Given the description of an element on the screen output the (x, y) to click on. 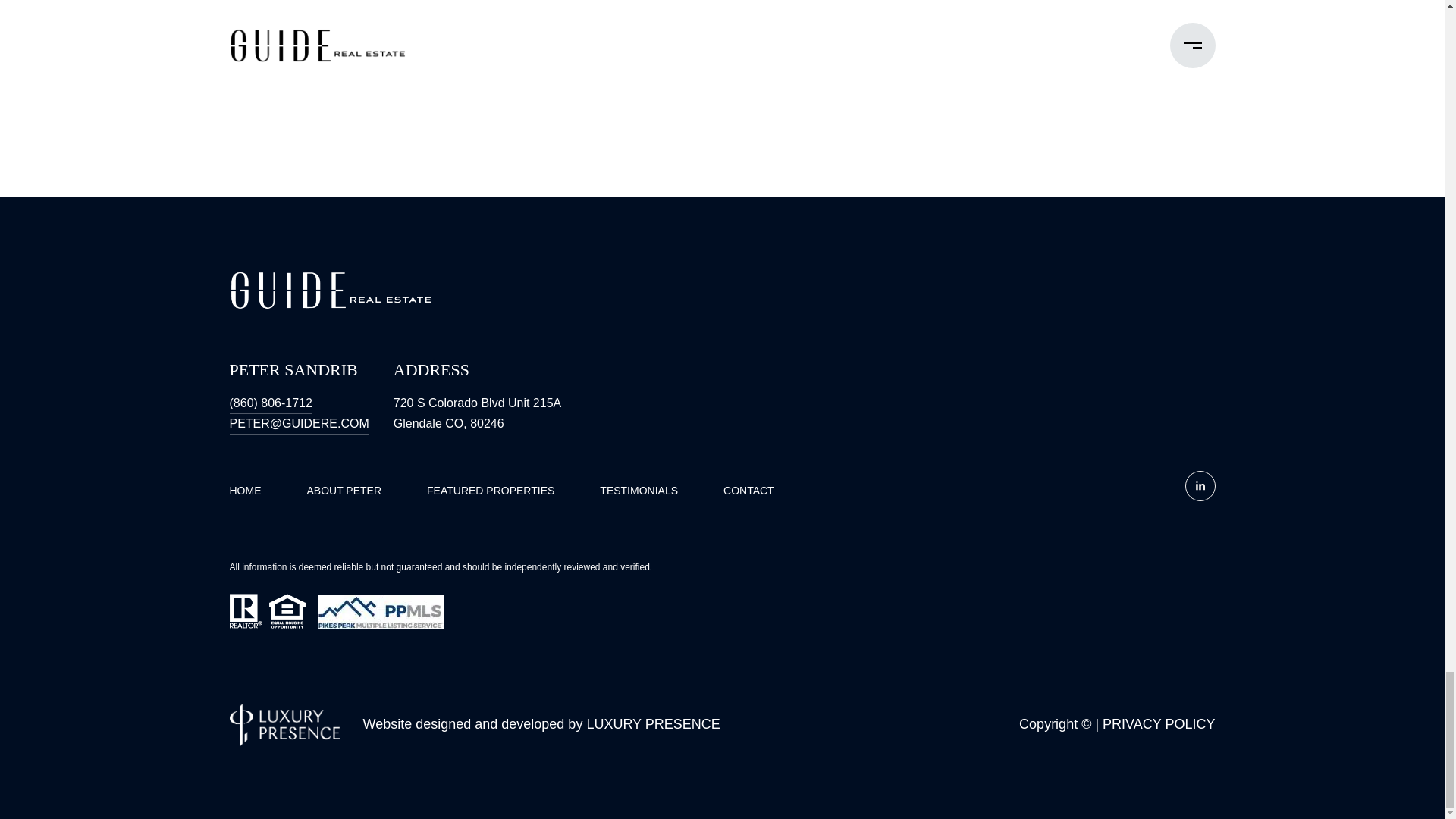
HOME (244, 490)
ABOUT PETER (343, 490)
